Given the description of an element on the screen output the (x, y) to click on. 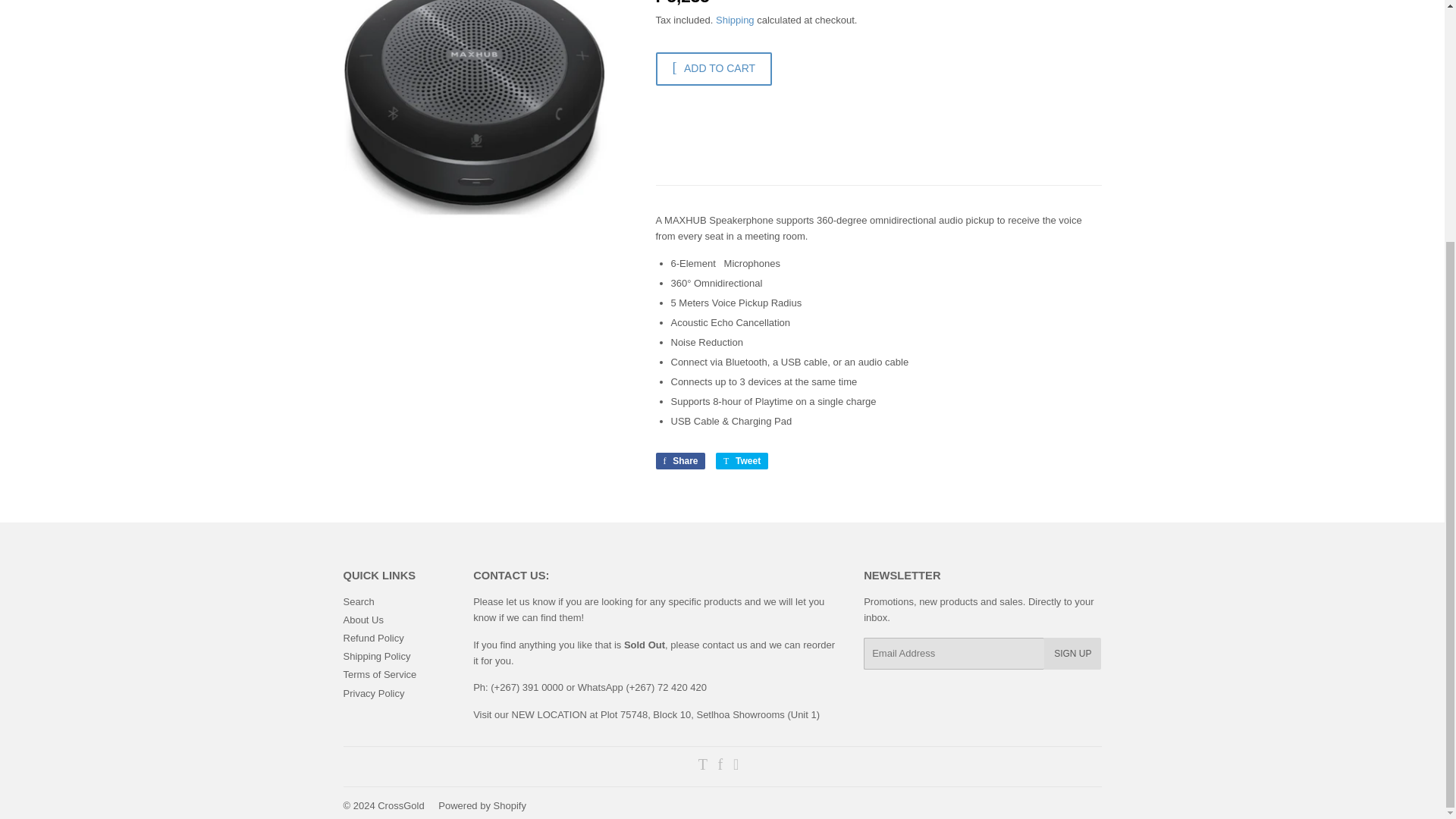
Shipping (735, 19)
Share on Facebook (679, 460)
Tweet on Twitter (742, 460)
